Given the description of an element on the screen output the (x, y) to click on. 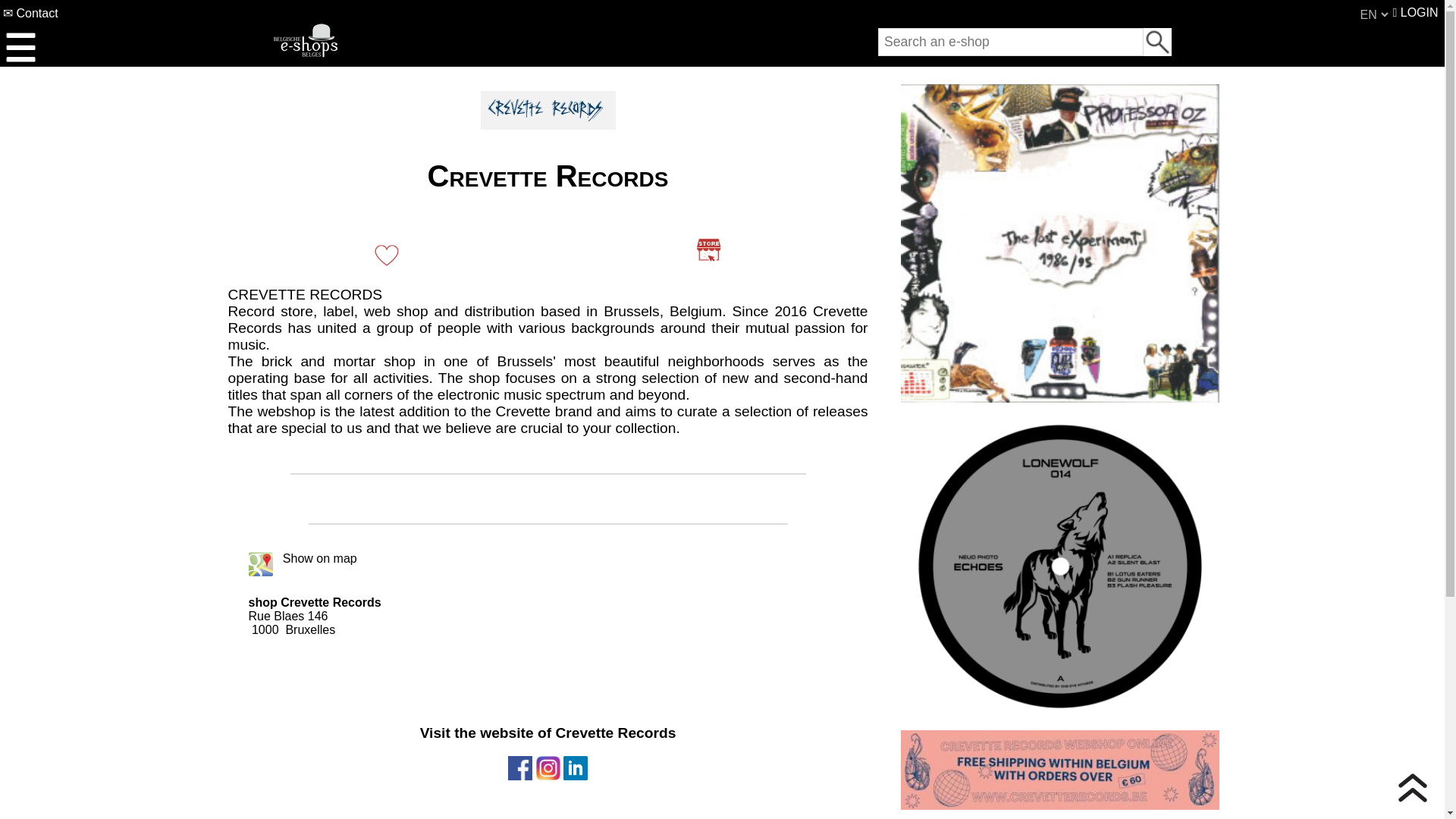
crevetterecords-professor-oz-400 (1060, 243)
   Show on map (314, 558)
Visit the website of Crevette Records (547, 753)
crevetterecords-banner-400 (1060, 769)
Show on map (314, 558)
Add to my favourites (386, 253)
Language (1372, 14)
Menu (20, 47)
crevetterecords-neud-400 (1060, 566)
Visit the website of Crevette Records (708, 250)
